Given the description of an element on the screen output the (x, y) to click on. 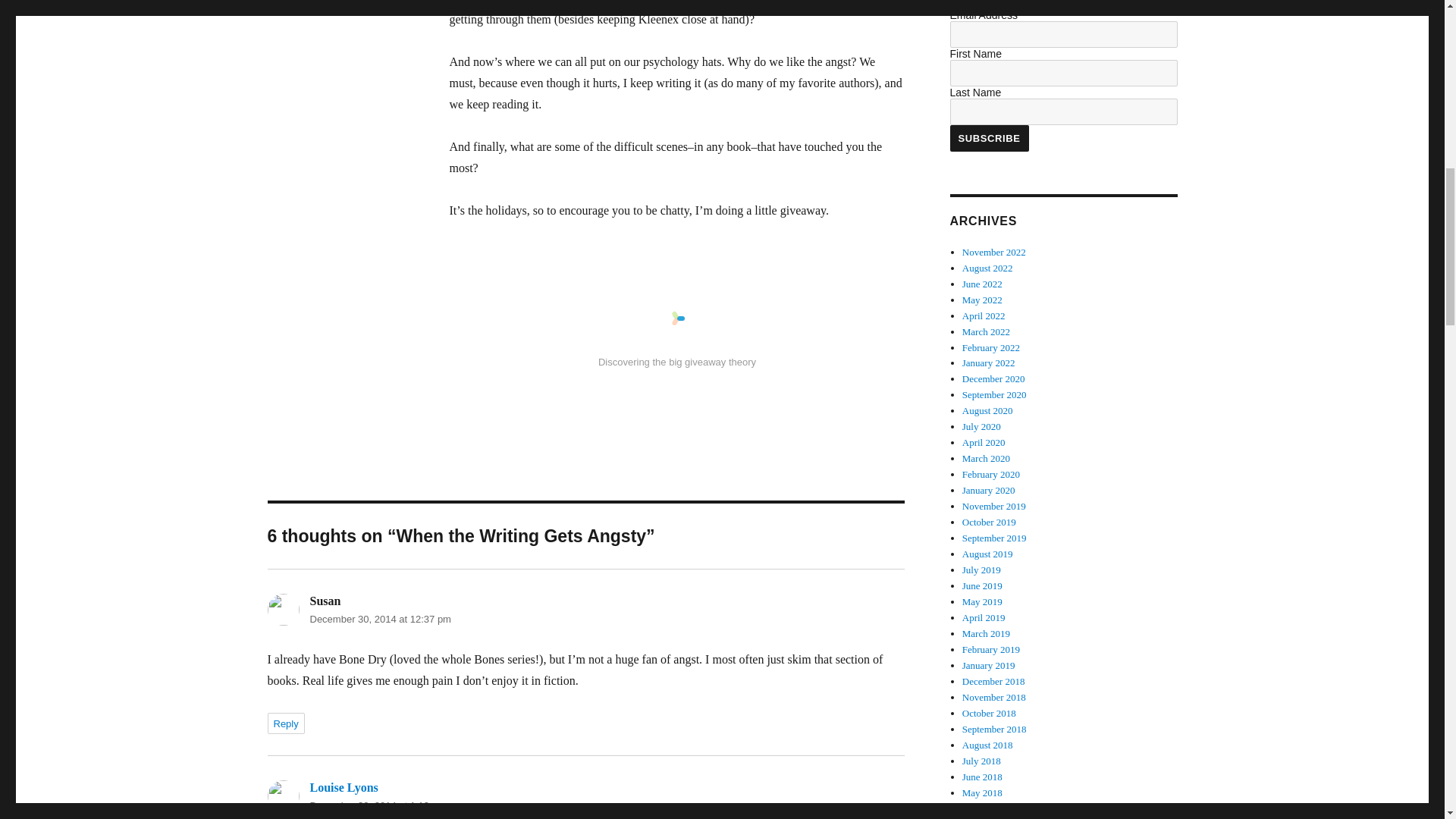
December 30, 2014 at 1:13 pm (376, 805)
December 30, 2014 at 12:37 pm (378, 618)
Subscribe (988, 138)
Reply (285, 722)
Louise Lyons (342, 787)
